Given the description of an element on the screen output the (x, y) to click on. 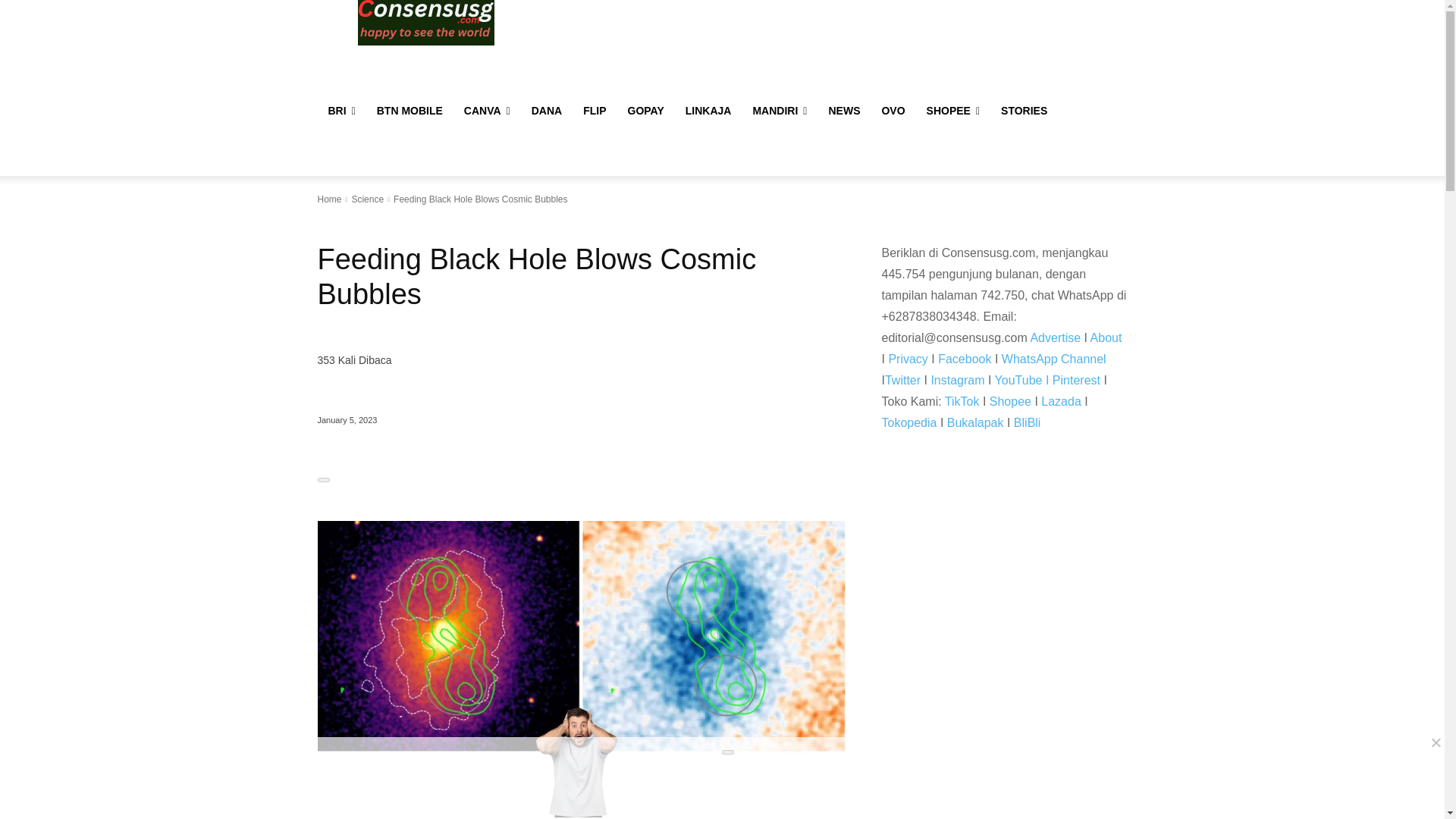
BRI (341, 110)
CANVA (486, 110)
GOPAY (646, 110)
FLIP (593, 110)
DANA (546, 110)
View all posts in Science (367, 199)
BTN MOBILE (409, 110)
